Given the description of an element on the screen output the (x, y) to click on. 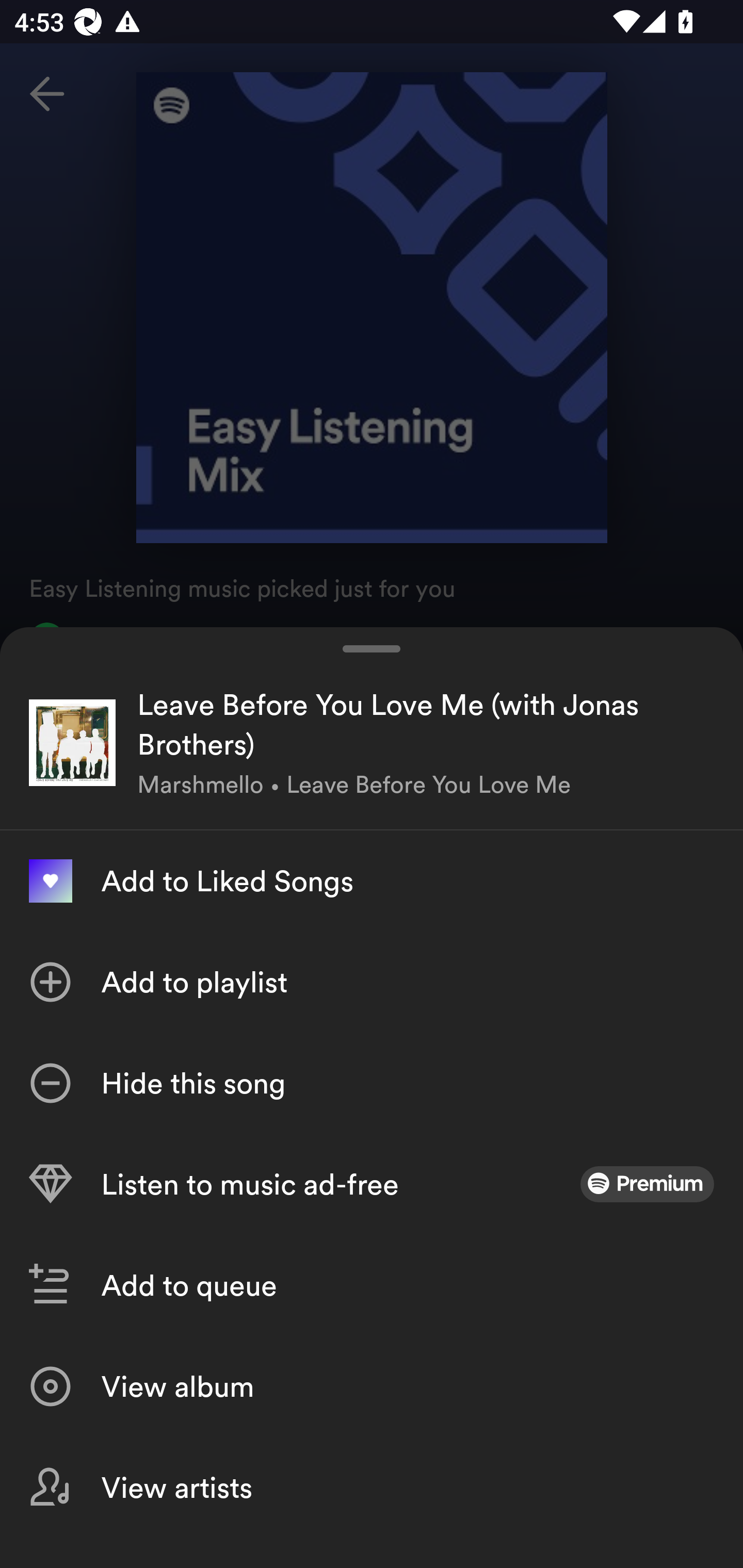
Add to Liked Songs (371, 881)
Add to playlist (371, 982)
Hide this song (371, 1083)
Listen to music ad-free (371, 1184)
Add to queue (371, 1285)
View album (371, 1385)
View artists (371, 1487)
